Given the description of an element on the screen output the (x, y) to click on. 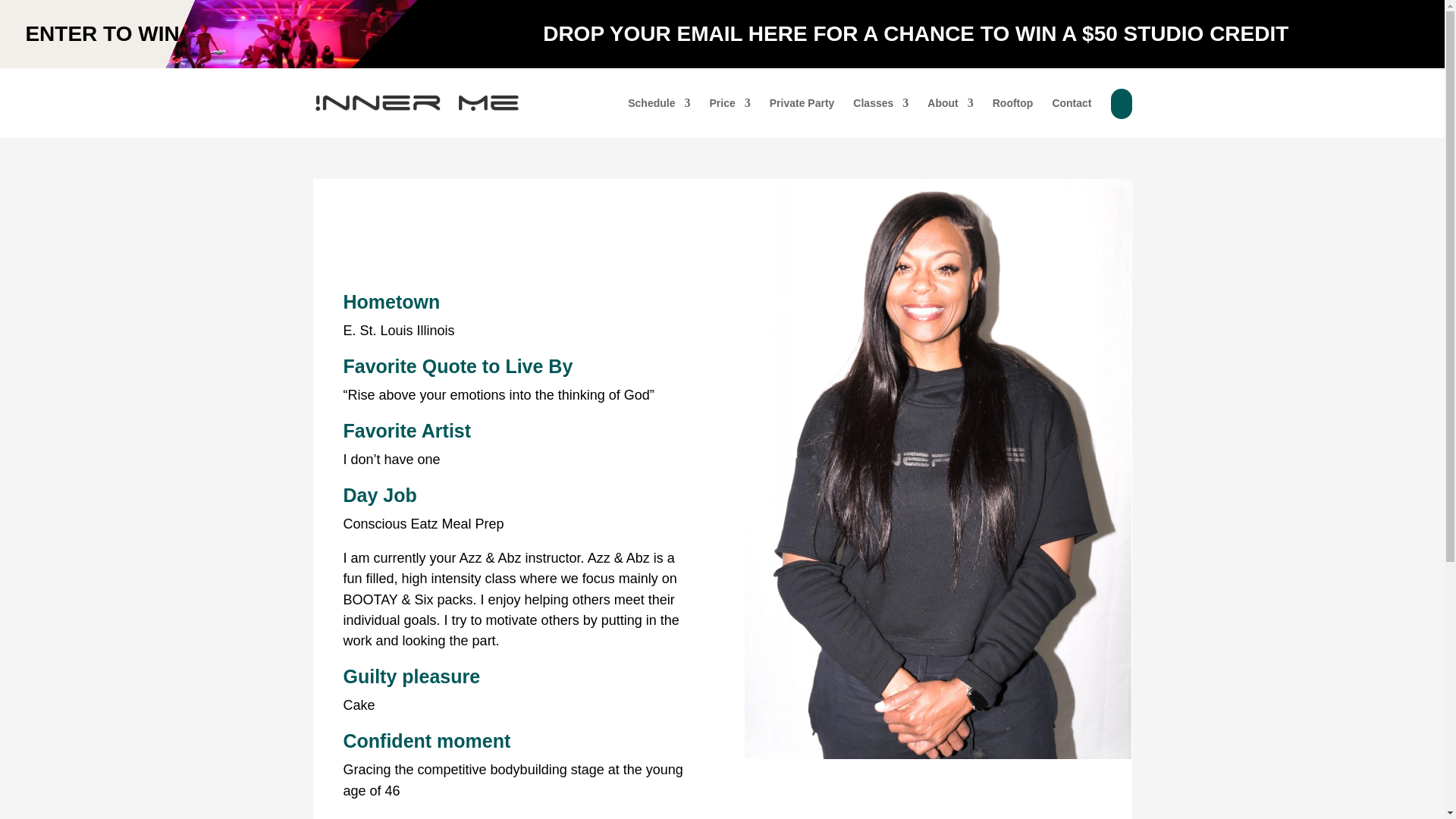
Schedule (658, 102)
Private Party (802, 102)
Classes (880, 102)
